Given the description of an element on the screen output the (x, y) to click on. 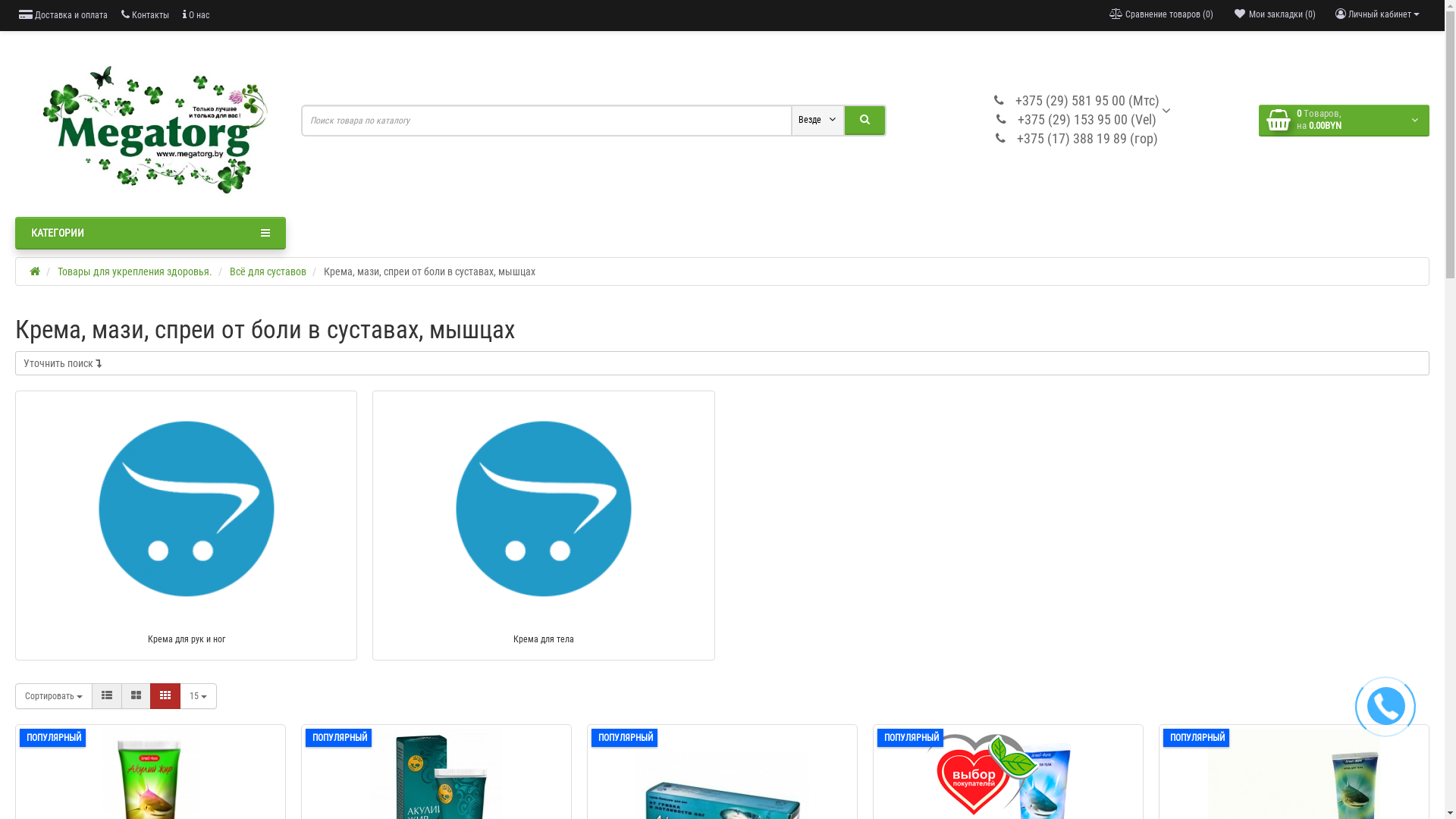
15 Element type: text (197, 696)
